Given the description of an element on the screen output the (x, y) to click on. 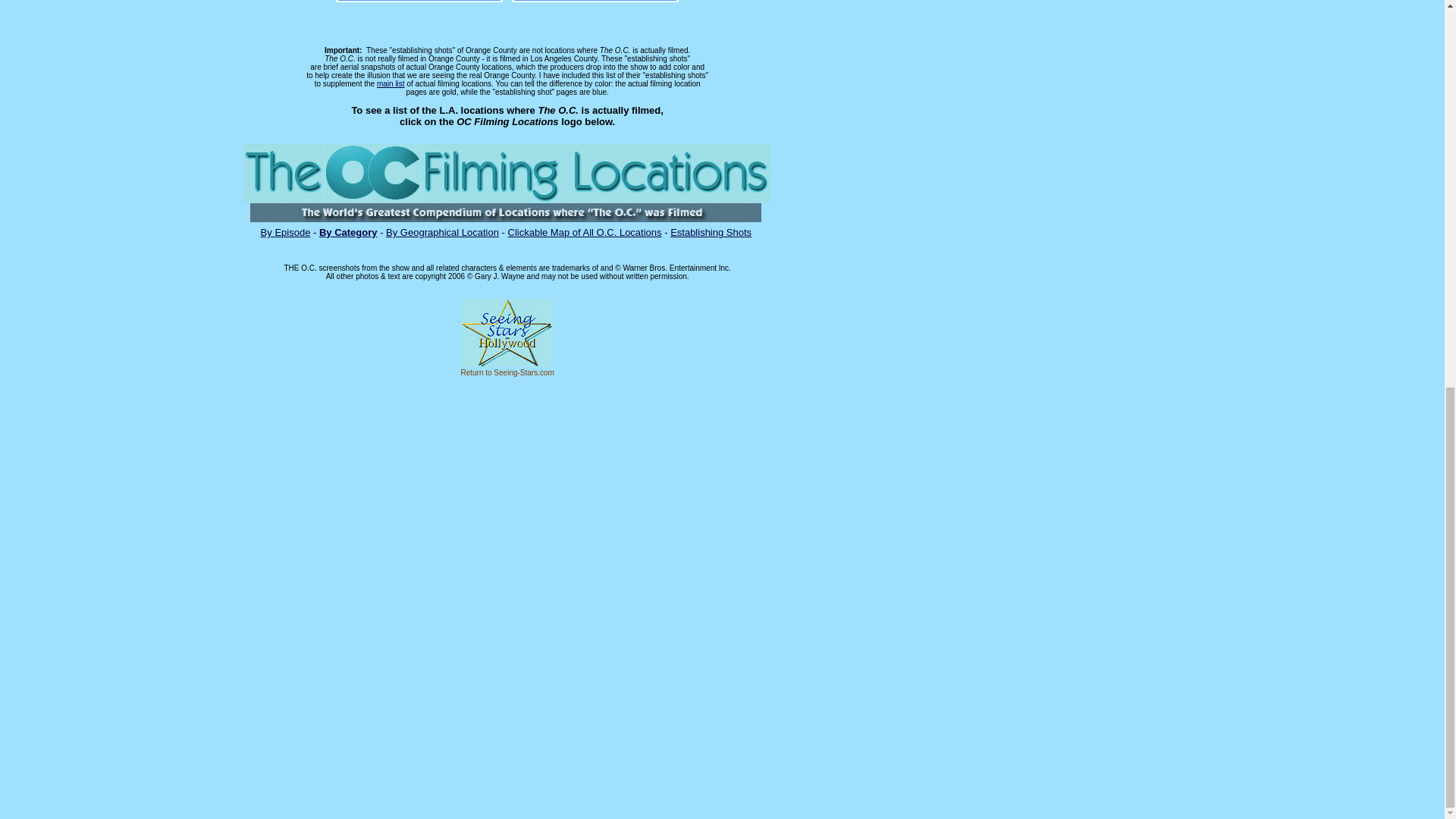
main list (390, 83)
By Category (347, 232)
By Episode (285, 232)
By Geographical Location (442, 232)
Clickable Map of All O.C. Locations (585, 232)
Establishing Shots (710, 232)
